Given the description of an element on the screen output the (x, y) to click on. 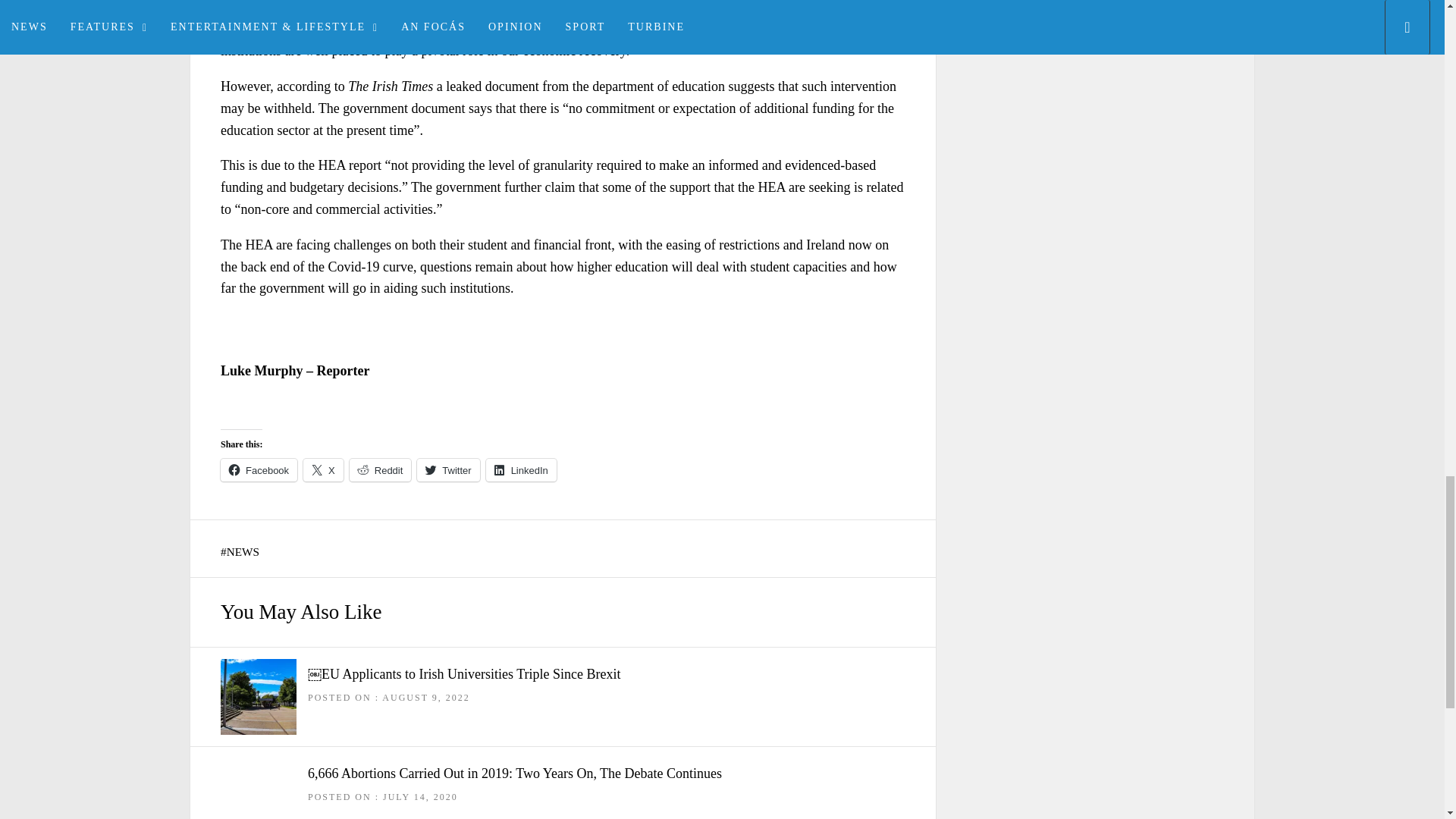
Reddit (380, 469)
Click to share on LinkedIn (521, 469)
Click to share on X (322, 469)
X (322, 469)
Click to share on Twitter (447, 469)
Facebook (259, 469)
LinkedIn (521, 469)
Twitter (447, 469)
Click to share on Reddit (380, 469)
Click to share on Facebook (259, 469)
